Given the description of an element on the screen output the (x, y) to click on. 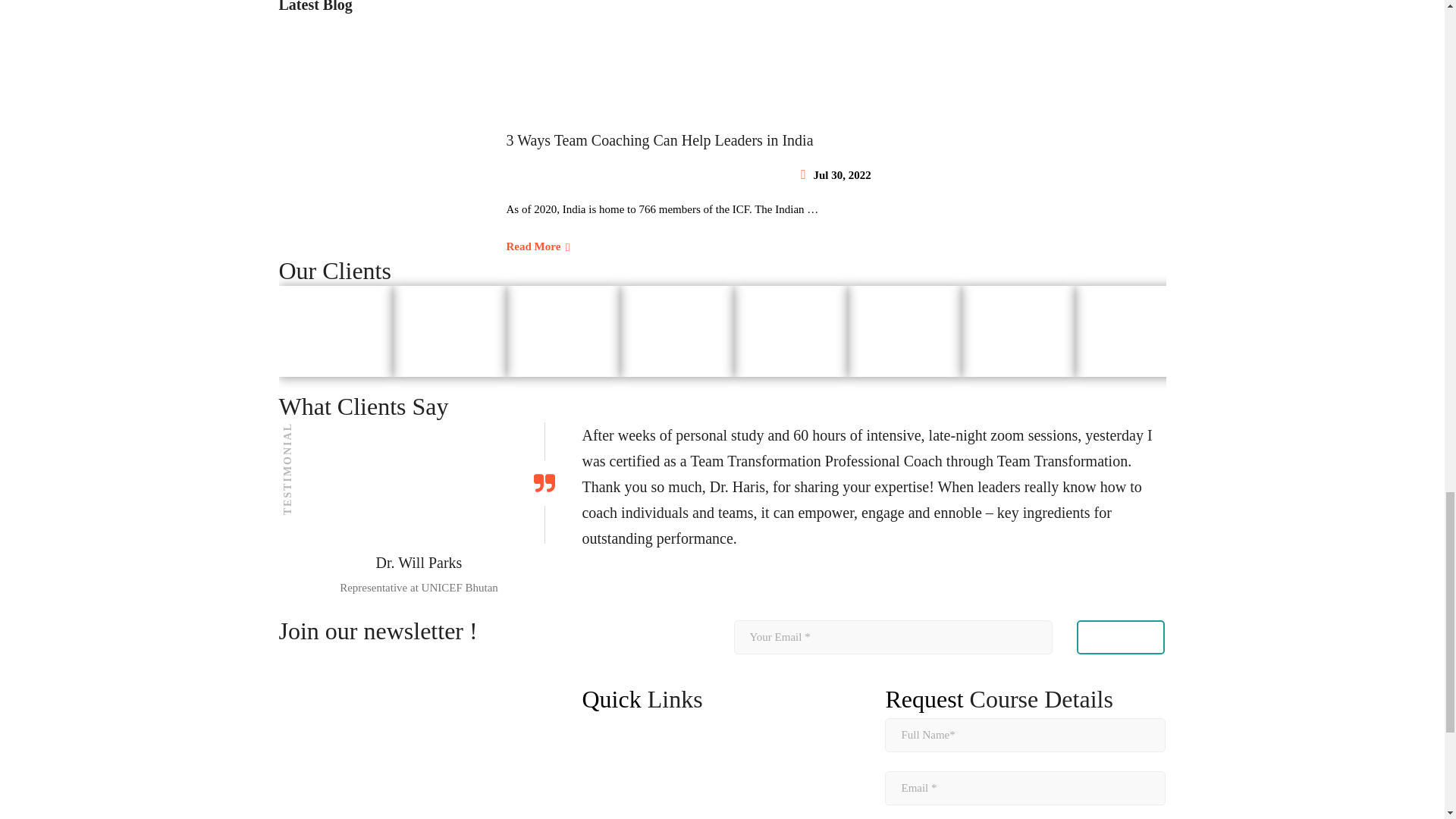
3 Ways Team Coaching Can Help Leaders in India (836, 139)
Read More (538, 246)
Send (1120, 636)
